Given the description of an element on the screen output the (x, y) to click on. 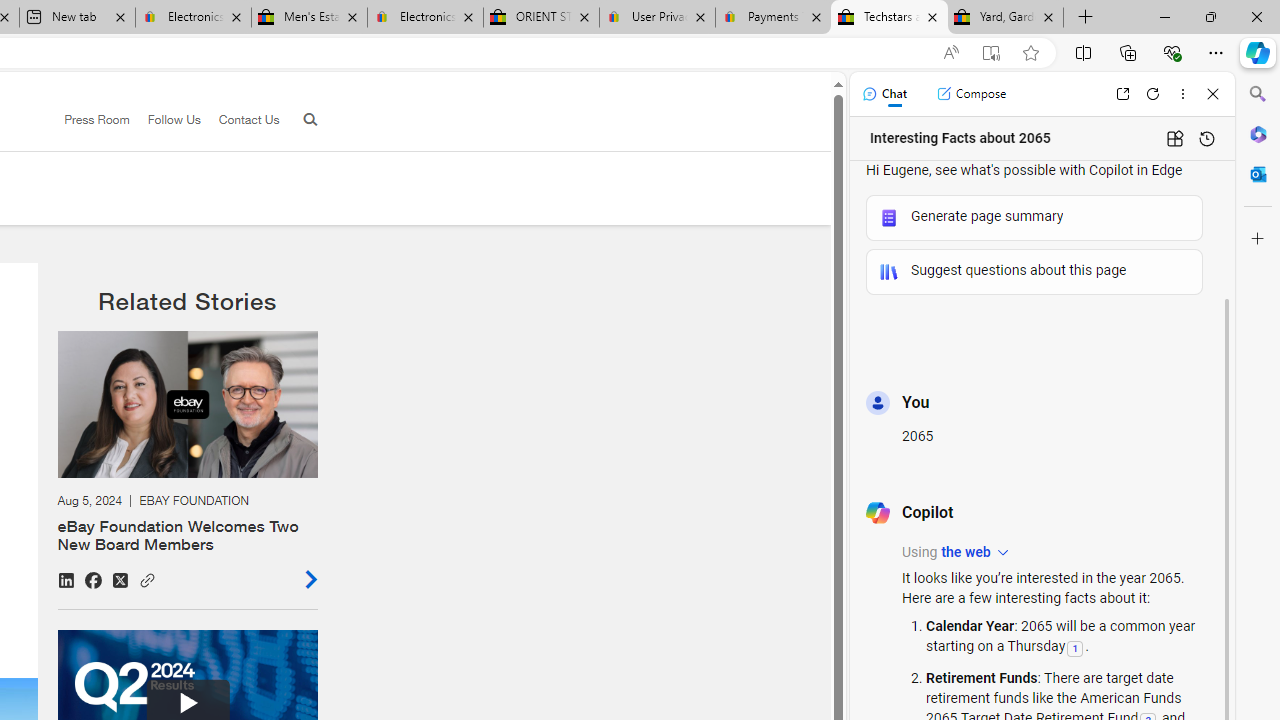
Press Room (88, 120)
Yard, Garden & Outdoor Living (1005, 17)
Follow Us (173, 119)
Article: eBay Foundation Welcomes Two New Board Members (187, 460)
Contact Us (248, 119)
